Given the description of an element on the screen output the (x, y) to click on. 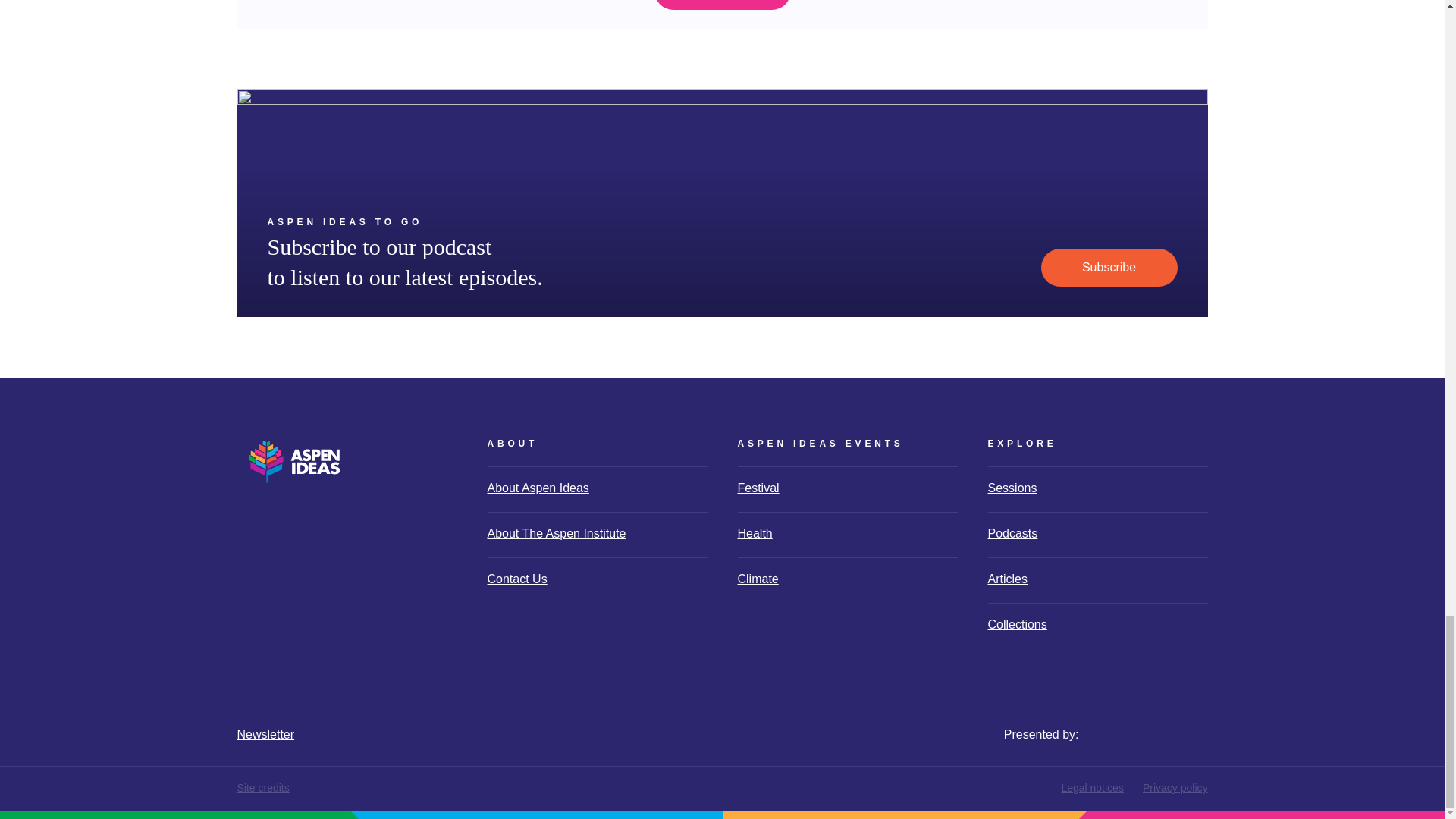
The Aspen Institute (1157, 715)
